Given the description of an element on the screen output the (x, y) to click on. 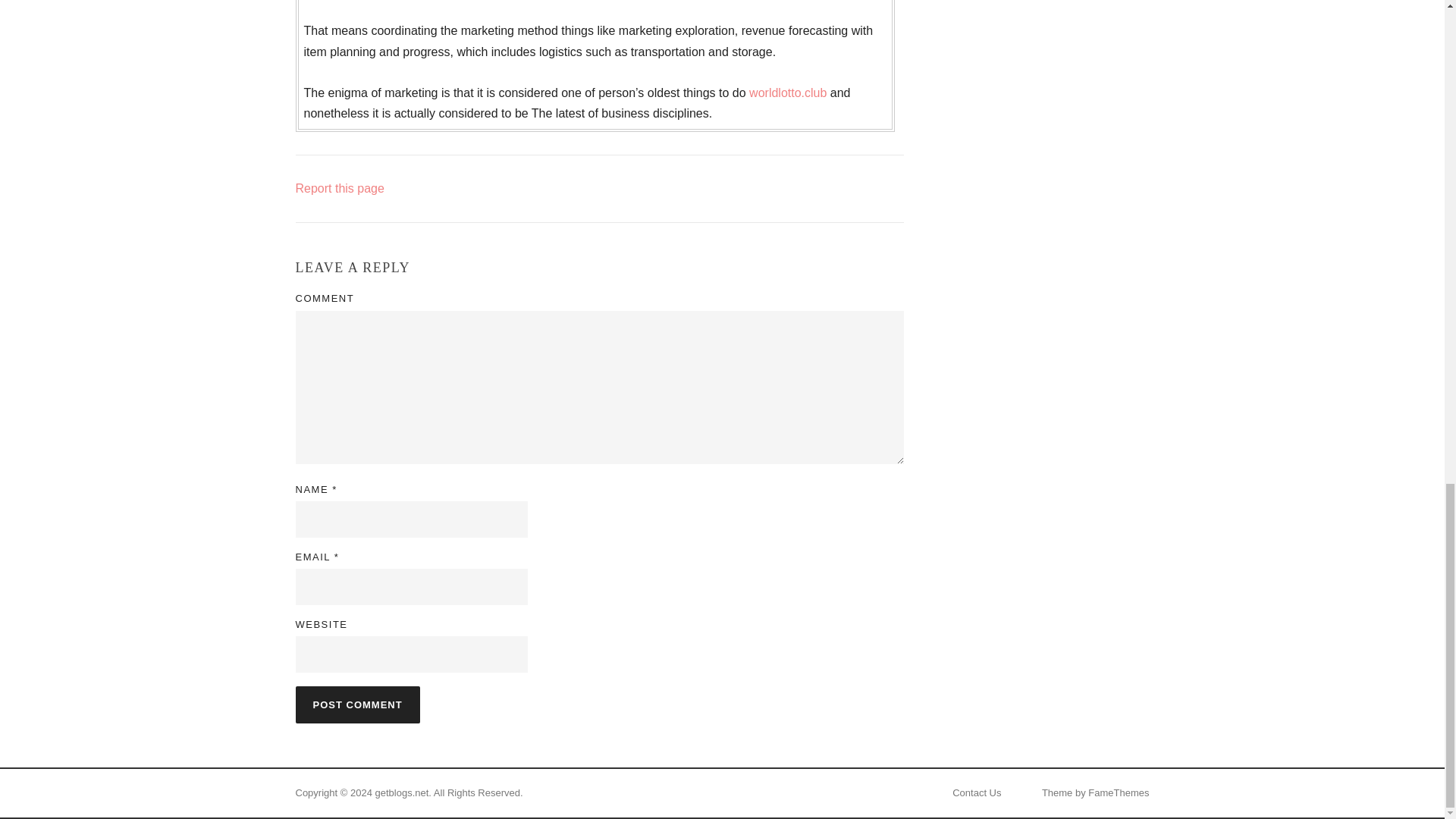
worldlotto.club (788, 92)
Report this page (339, 187)
Post Comment (357, 704)
Post Comment (357, 704)
